Given the description of an element on the screen output the (x, y) to click on. 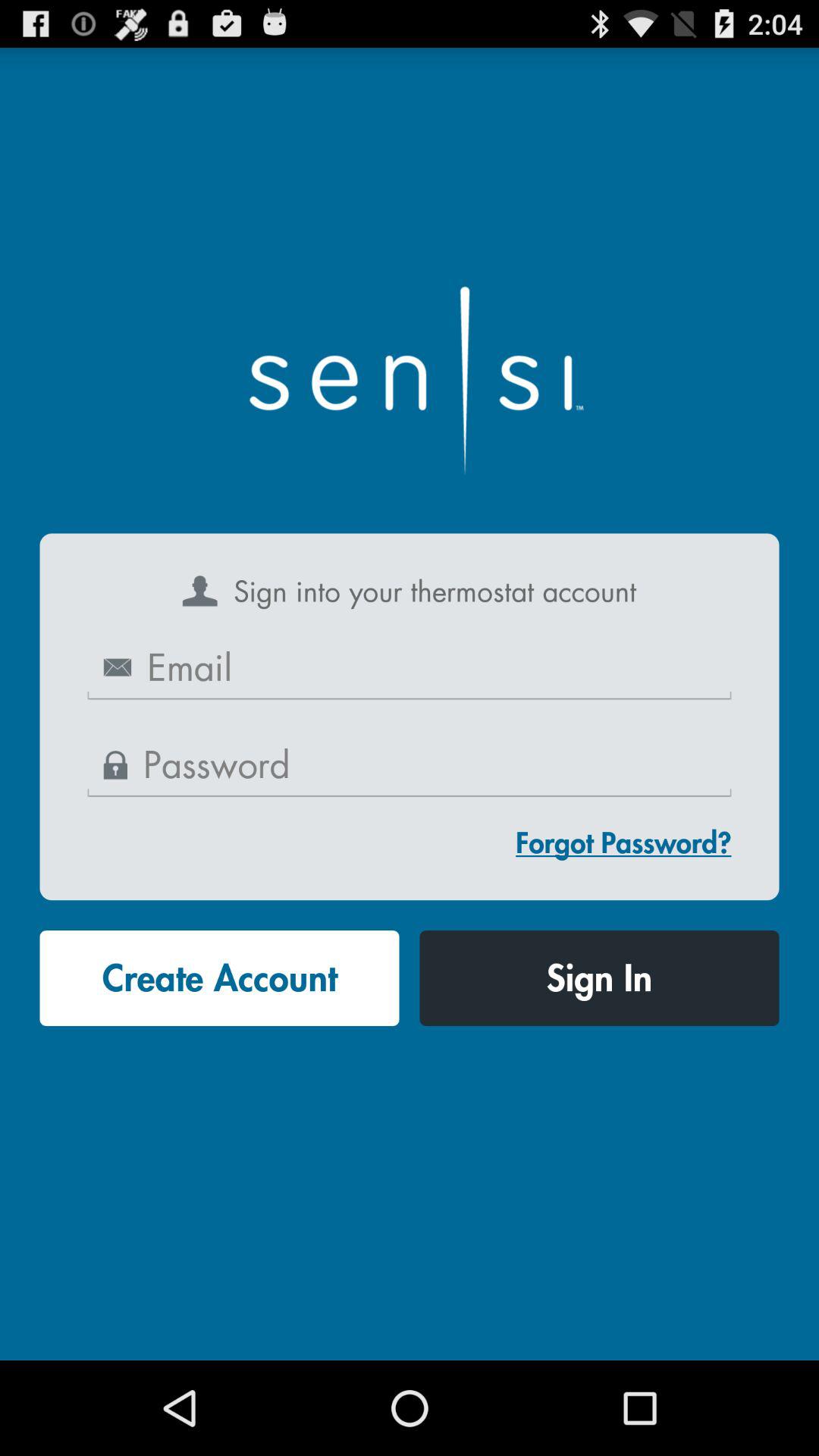
choose icon on the right (623, 842)
